Given the description of an element on the screen output the (x, y) to click on. 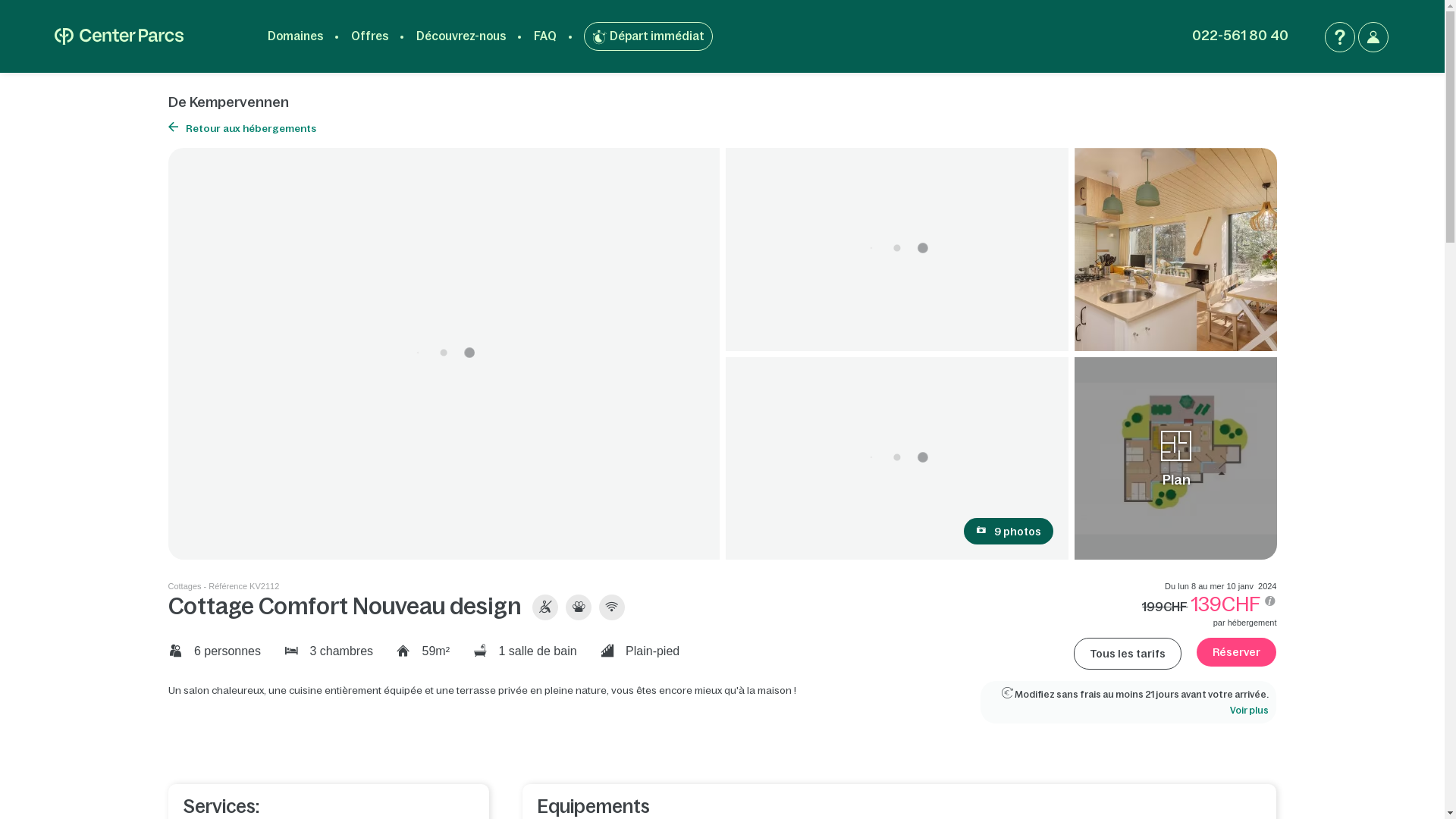
Tous les tarifs Element type: text (1127, 653)
FAQ Element type: hover (1339, 36)
FAQ Element type: text (544, 36)
Voir plus Element type: text (1249, 710)
Domaines Element type: text (295, 36)
9 photos Element type: text (1008, 530)
Offres Element type: text (369, 36)
